Given the description of an element on the screen output the (x, y) to click on. 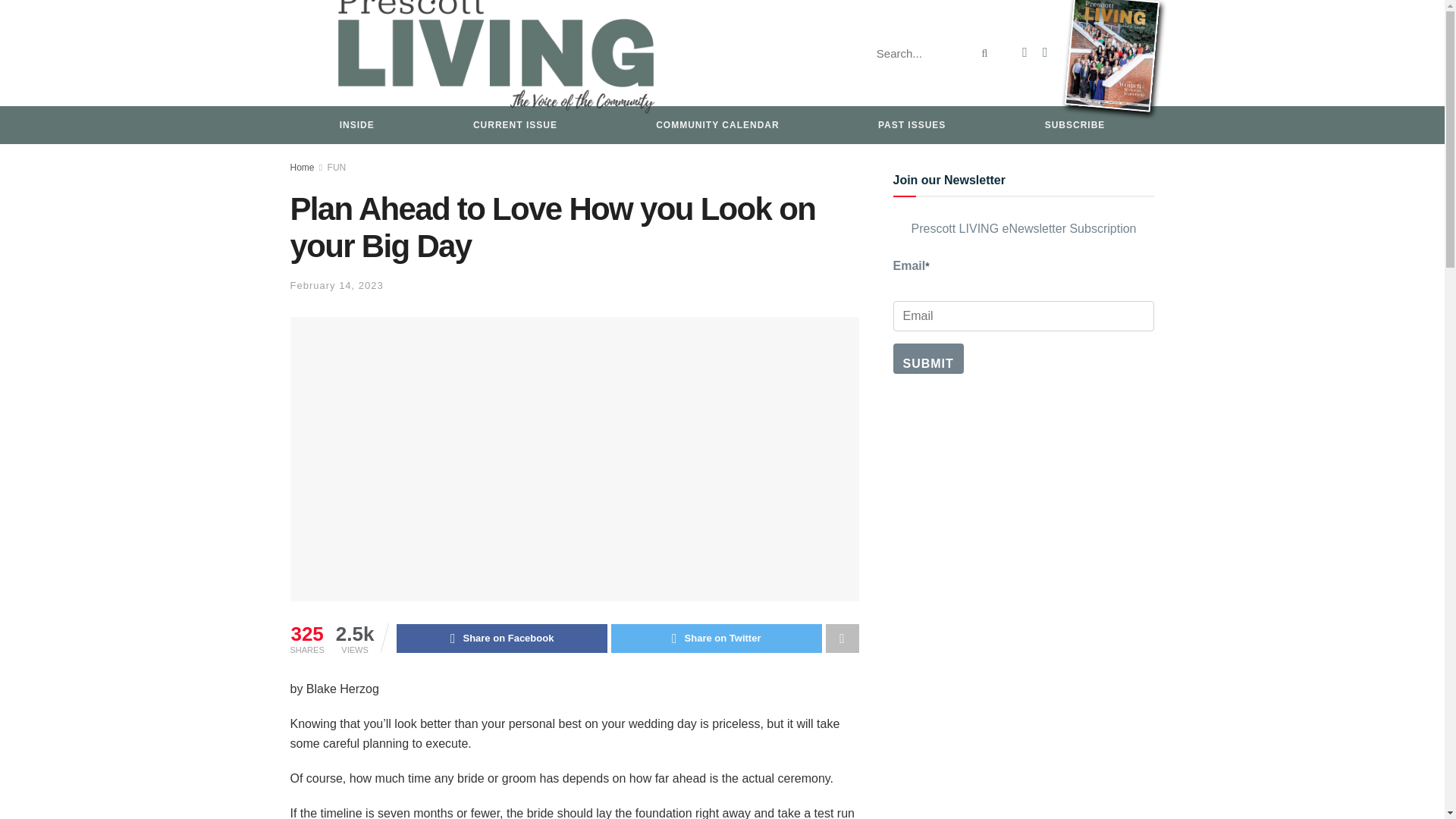
INSIDE (356, 125)
SUBSCRIBE (1074, 125)
Submit (928, 358)
COMMUNITY CALENDAR (717, 125)
CURRENT ISSUE (515, 125)
PAST ISSUES (911, 125)
